Given the description of an element on the screen output the (x, y) to click on. 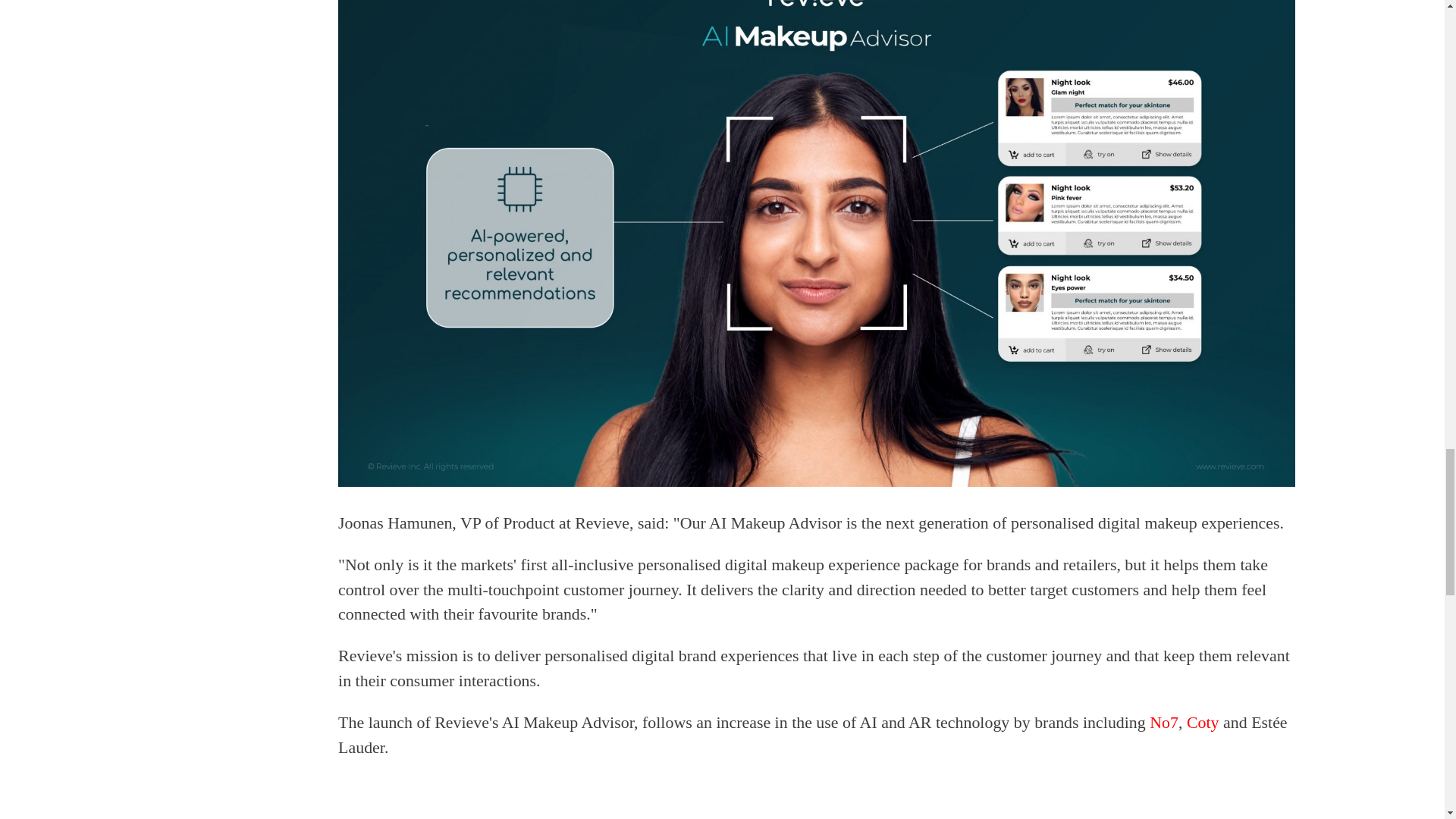
No7 (1163, 722)
Coty (1204, 722)
